Given the description of an element on the screen output the (x, y) to click on. 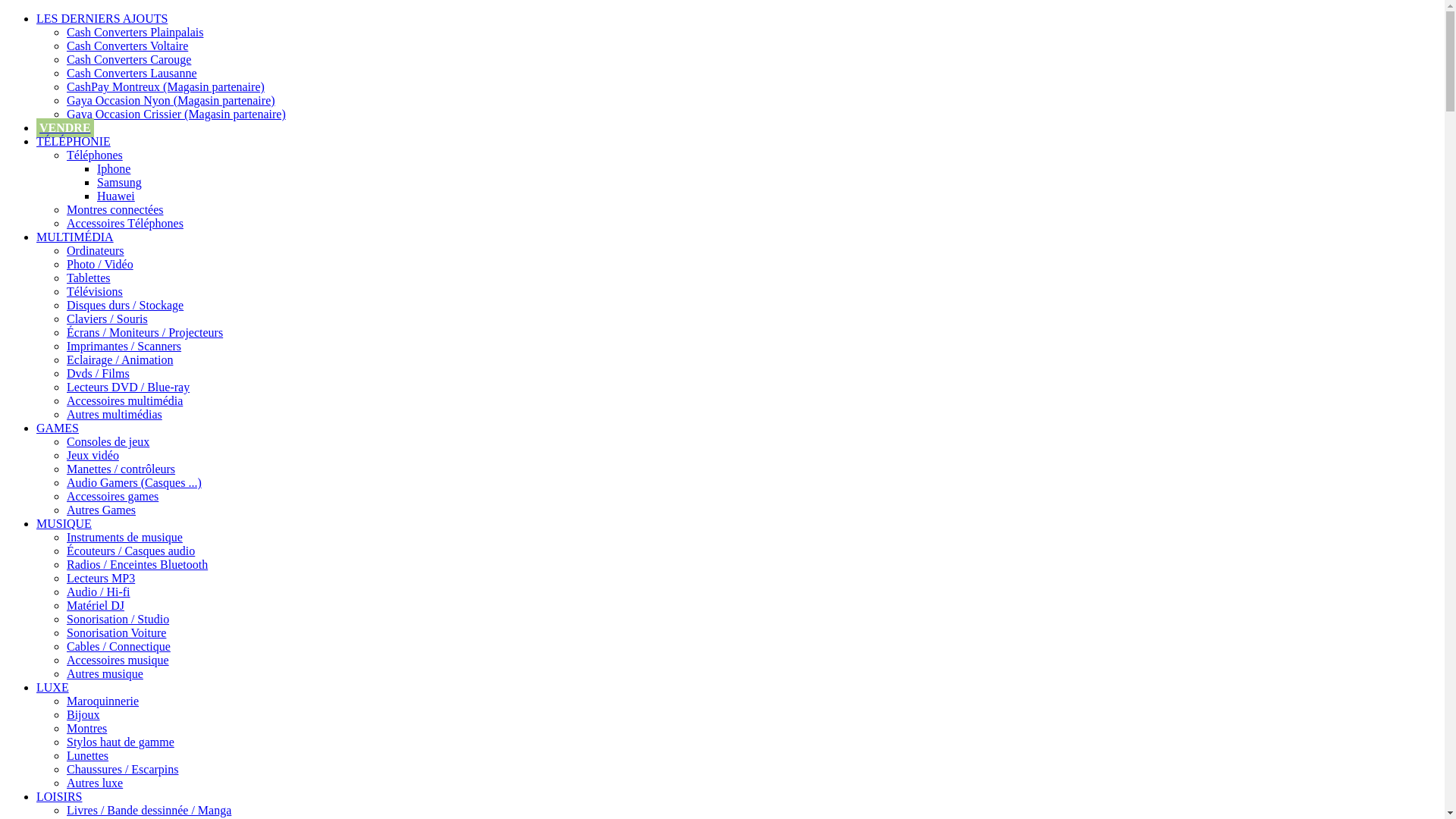
Chaussures / Escarpins Element type: text (122, 768)
Montres Element type: text (86, 727)
Sonorisation / Studio Element type: text (117, 618)
Autres musique Element type: text (104, 673)
Cash Converters Carouge Element type: text (128, 59)
MUSIQUE Element type: text (63, 523)
GAMES Element type: text (57, 427)
Audio Gamers (Casques ...) Element type: text (133, 482)
Imprimantes / Scanners Element type: text (123, 345)
Cash Converters Lausanne Element type: text (131, 72)
Radios / Enceintes Bluetooth Element type: text (136, 564)
Cash Converters Voltaire Element type: text (127, 45)
Disques durs / Stockage Element type: text (124, 304)
Lecteurs DVD / Blue-ray Element type: text (127, 386)
Accessoires musique Element type: text (117, 659)
Cash Converters Plainpalais Element type: text (134, 31)
Dvds / Films Element type: text (97, 373)
Maroquinnerie Element type: text (102, 700)
Tablettes Element type: text (88, 277)
Stylos haut de gamme Element type: text (120, 741)
Instruments de musique Element type: text (124, 536)
Iphone Element type: text (113, 168)
Samsung Element type: text (119, 181)
Claviers / Souris Element type: text (106, 318)
Accessoires games Element type: text (112, 495)
Sonorisation Voiture Element type: text (116, 632)
LES DERNIERS AJOUTS Element type: text (101, 18)
VENDRE Element type: text (65, 127)
Audio / Hi-fi Element type: text (98, 591)
CashPay Montreux (Magasin partenaire) Element type: text (165, 86)
Ordinateurs Element type: text (95, 250)
Consoles de jeux Element type: text (107, 441)
LUXE Element type: text (52, 686)
Huawei Element type: text (115, 195)
LOISIRS Element type: text (58, 796)
Autres luxe Element type: text (94, 782)
Lecteurs MP3 Element type: text (100, 577)
Lunettes Element type: text (87, 755)
Autres Games Element type: text (100, 509)
Bijoux Element type: text (83, 714)
Eclairage / Animation Element type: text (119, 359)
Gaya Occasion Crissier (Magasin partenaire) Element type: text (175, 113)
Cables / Connectique Element type: text (118, 646)
Gaya Occasion Nyon (Magasin partenaire) Element type: text (170, 100)
